Given the description of an element on the screen output the (x, y) to click on. 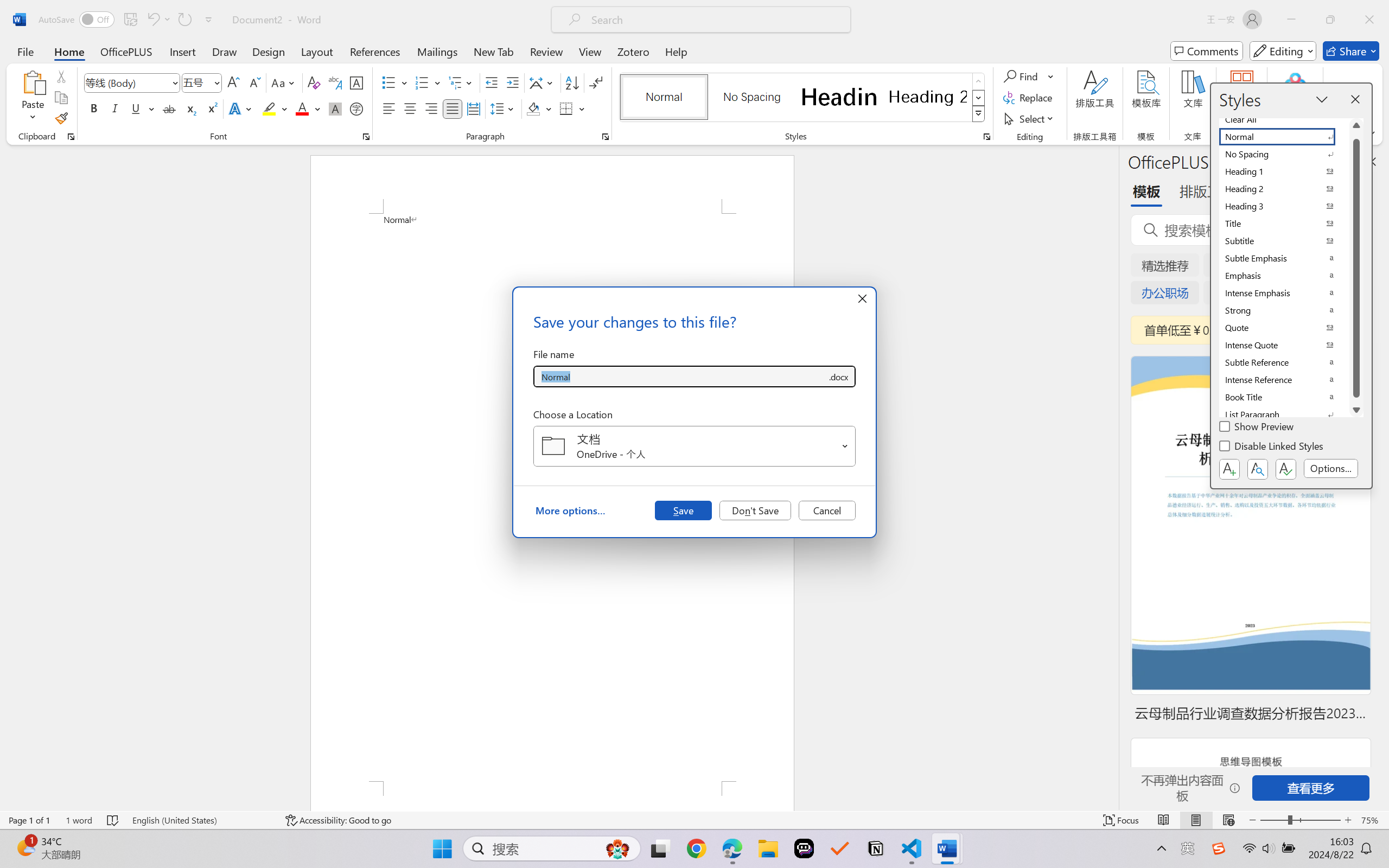
Open (844, 446)
Paste (33, 97)
Disable Linked Styles (1272, 447)
Class: NetUIScrollBar (1111, 477)
Font (132, 82)
Font Size (201, 82)
Class: NetUIButton (1285, 469)
Find (1022, 75)
Class: NetUIImage (978, 114)
Numbering (428, 82)
